Given the description of an element on the screen output the (x, y) to click on. 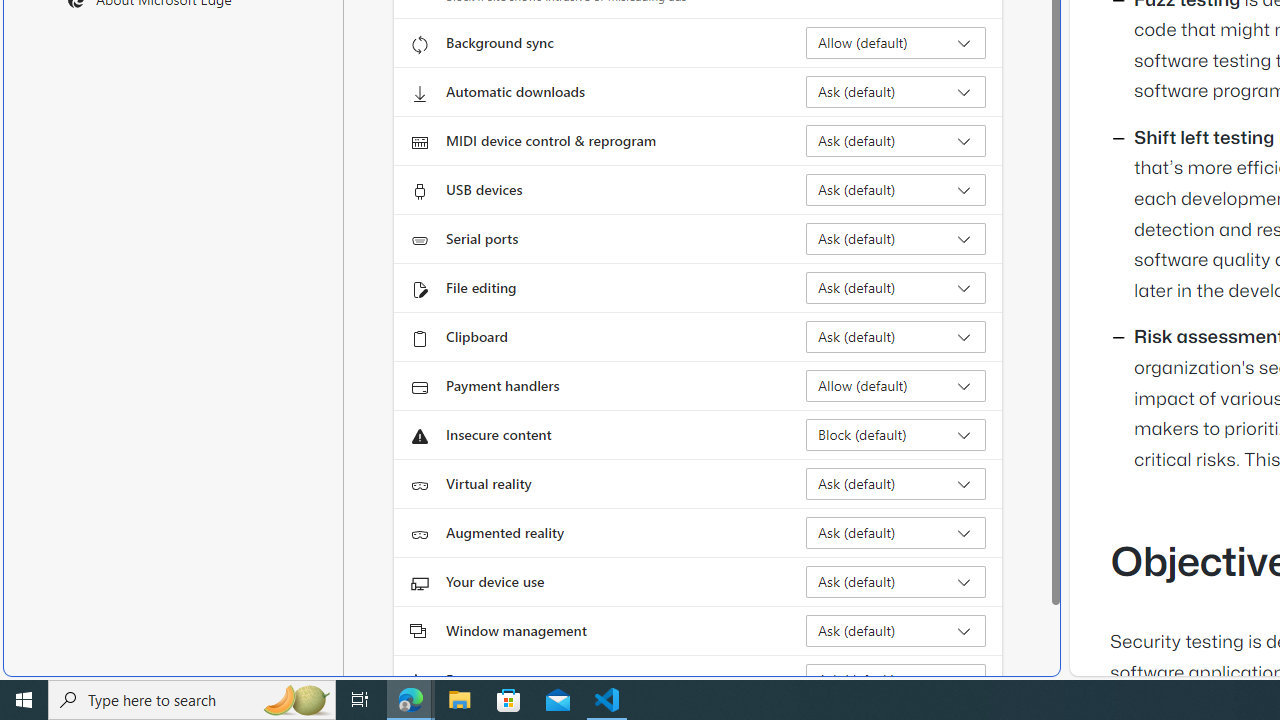
File editing Ask (default) (895, 287)
Payment handlers Allow (default) (895, 385)
Insecure content Block (default) (895, 434)
Augmented reality Ask (default) (895, 532)
Clipboard Ask (default) (895, 336)
Your device use Ask (default) (895, 581)
Serial ports Ask (default) (895, 238)
Window management Ask (default) (895, 630)
Automatic downloads Ask (default) (895, 92)
Virtual reality Ask (default) (895, 483)
MIDI device control & reprogram Ask (default) (895, 140)
Background sync Allow (default) (895, 43)
Fonts Ask (default) (895, 679)
USB devices Ask (default) (895, 189)
